Given the description of an element on the screen output the (x, y) to click on. 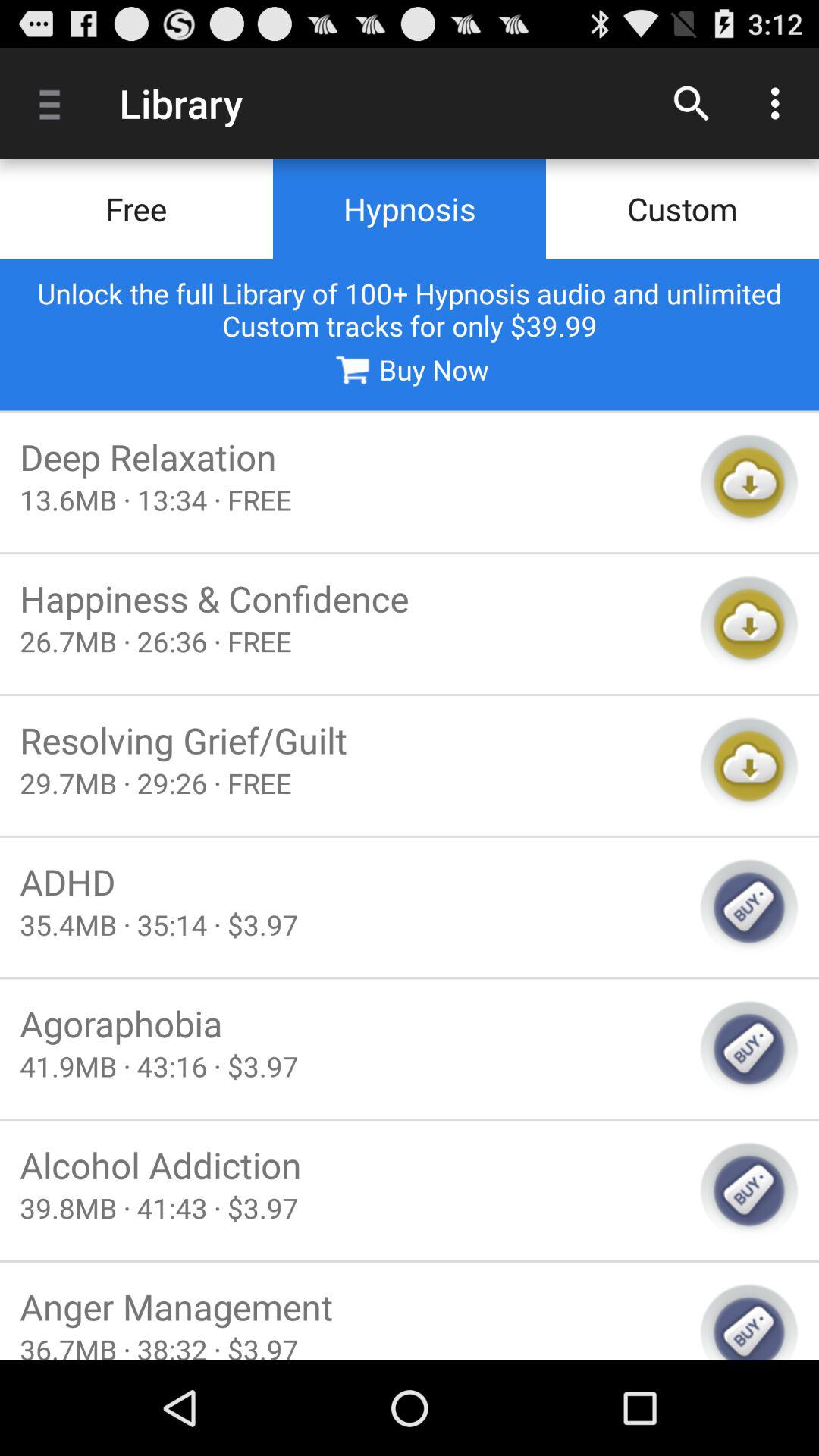
turn off app next to library app (55, 103)
